Given the description of an element on the screen output the (x, y) to click on. 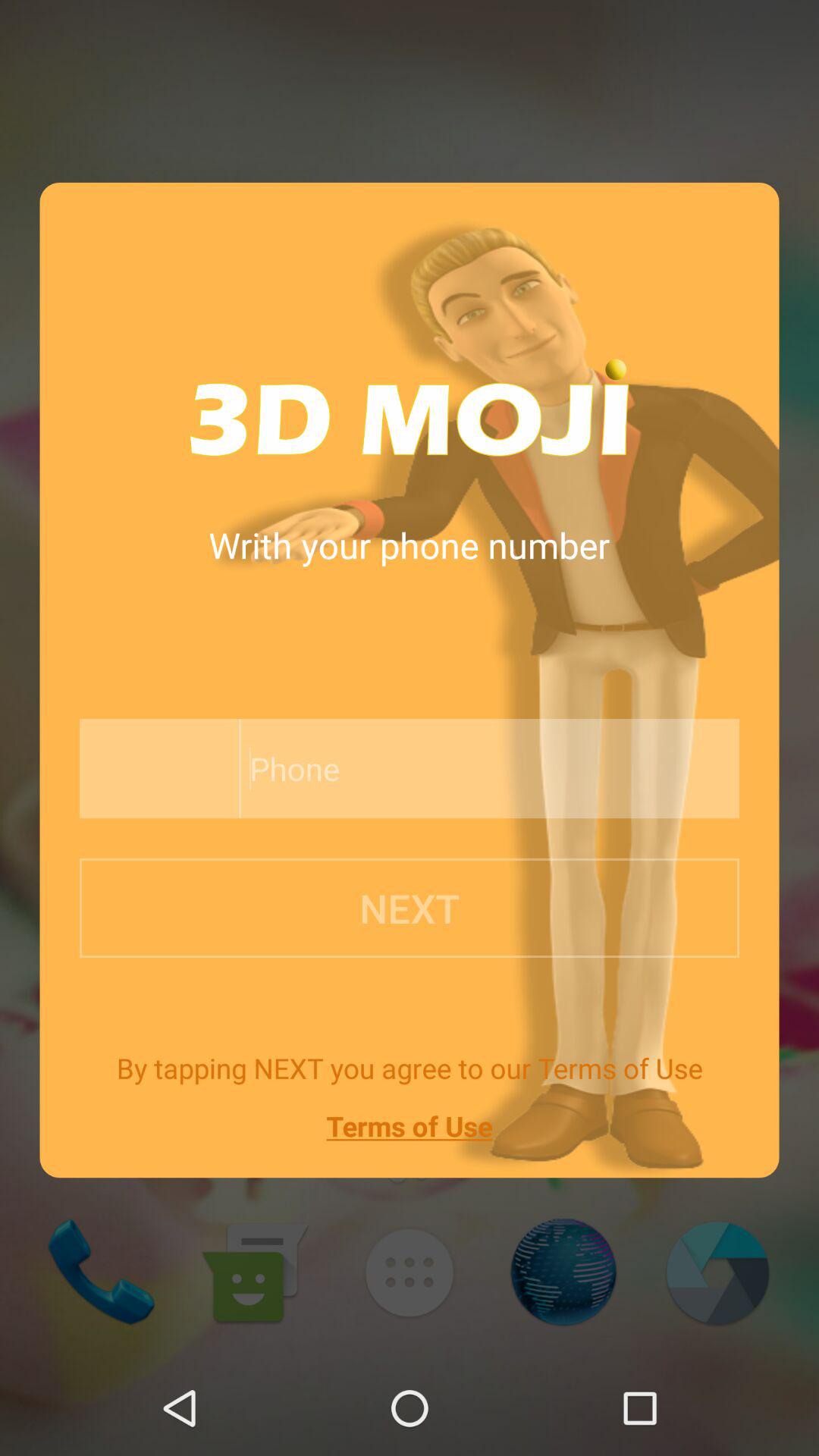
open the item below writh your phone app (154, 768)
